Given the description of an element on the screen output the (x, y) to click on. 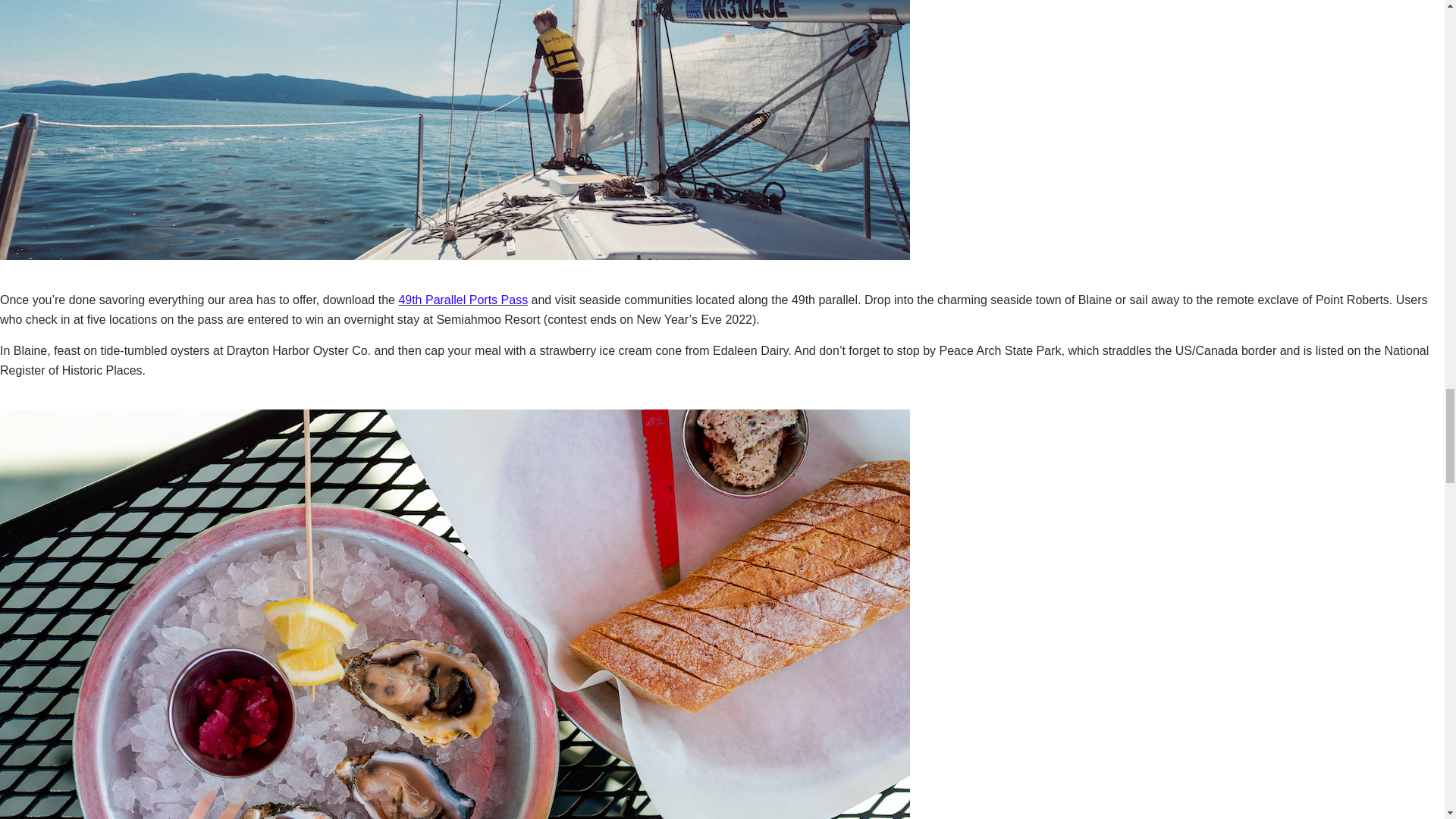
49th Parallel Ports Pass (462, 299)
